Given the description of an element on the screen output the (x, y) to click on. 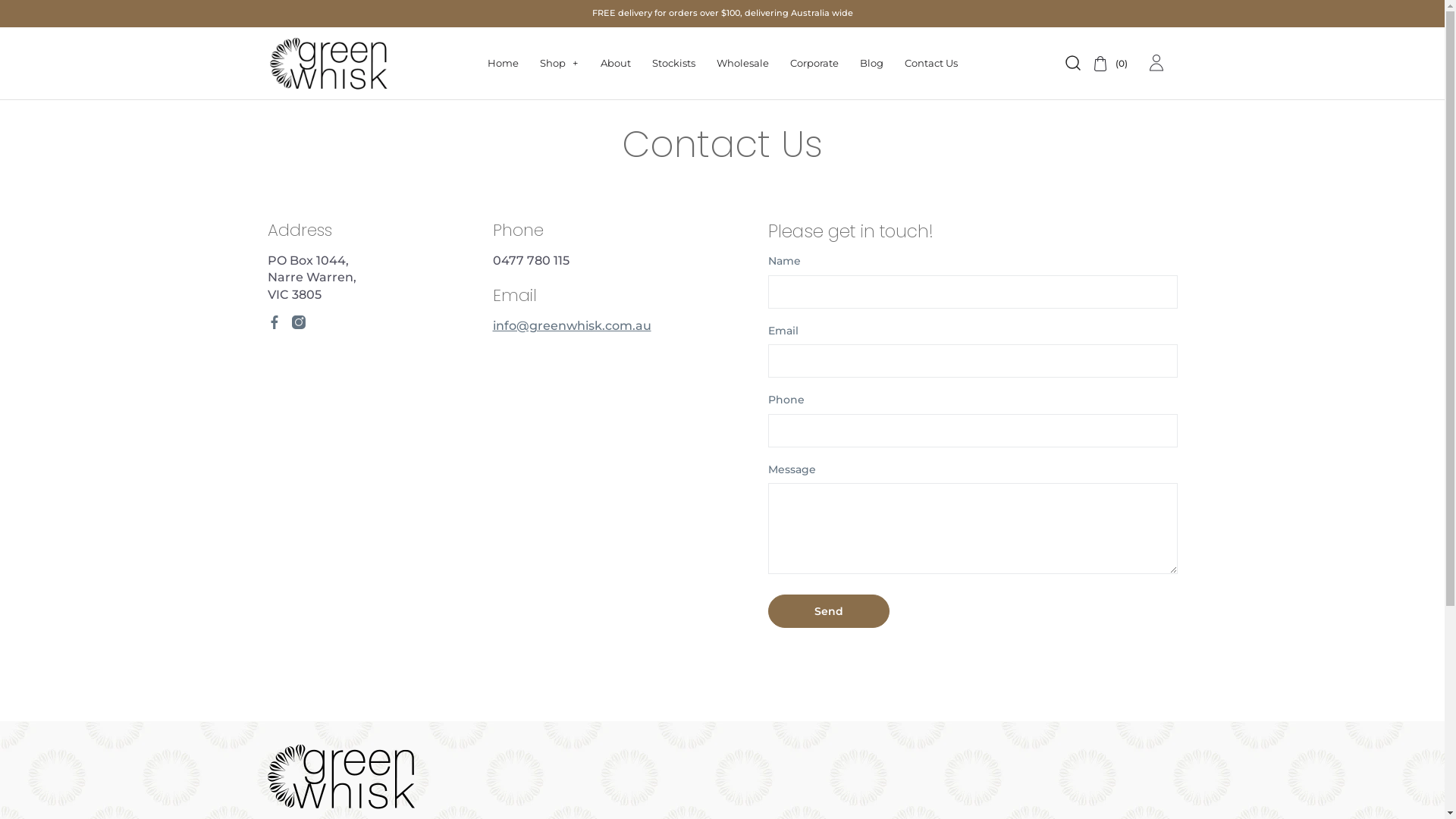
Contact Us Element type: text (930, 62)
Home Element type: text (502, 62)
Stockists Element type: text (673, 62)
About Element type: text (615, 62)
Instagram Element type: text (297, 322)
Blog Element type: text (871, 62)
GreenWhisk Element type: hover (340, 805)
Facebook Element type: text (273, 322)
Wholesale Element type: text (741, 62)
GreenWhisk Element type: hover (327, 62)
Send Element type: text (827, 610)
(0) Element type: text (1105, 63)
Shop + Element type: text (559, 62)
info@greenwhisk.com.au Element type: text (571, 325)
Corporate Element type: text (814, 62)
